Given the description of an element on the screen output the (x, y) to click on. 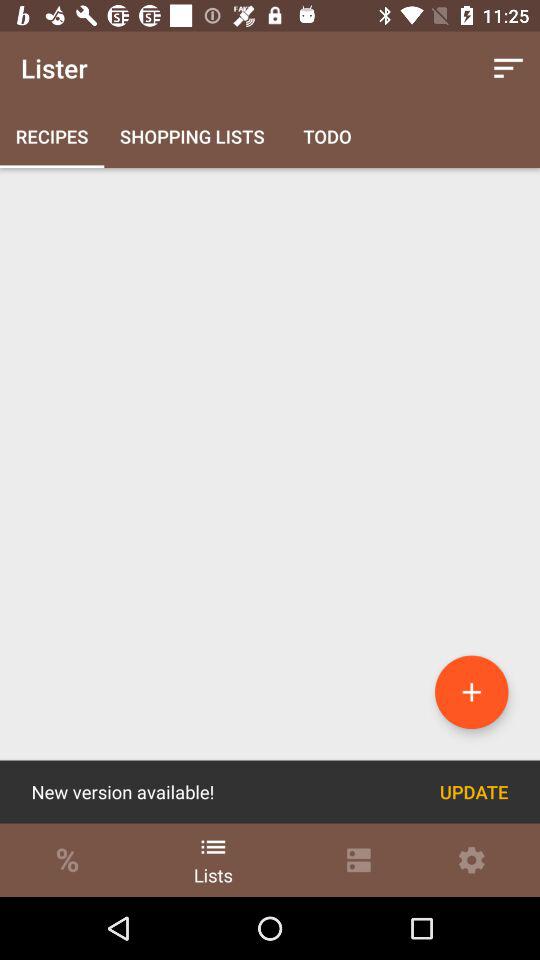
click icon next to lister item (508, 67)
